Given the description of an element on the screen output the (x, y) to click on. 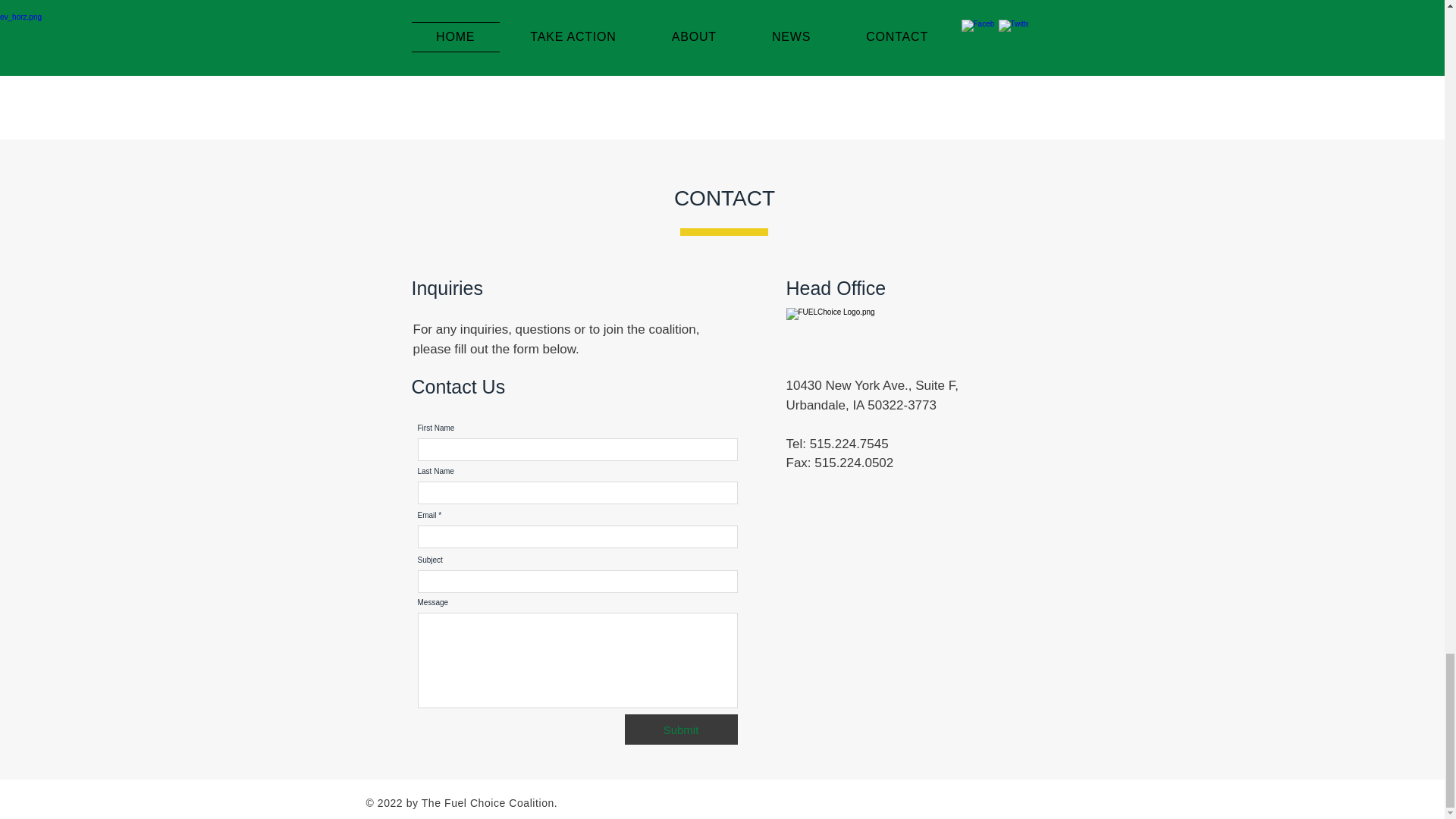
Client Logo 5 (672, 13)
Submit (681, 729)
